Given the description of an element on the screen output the (x, y) to click on. 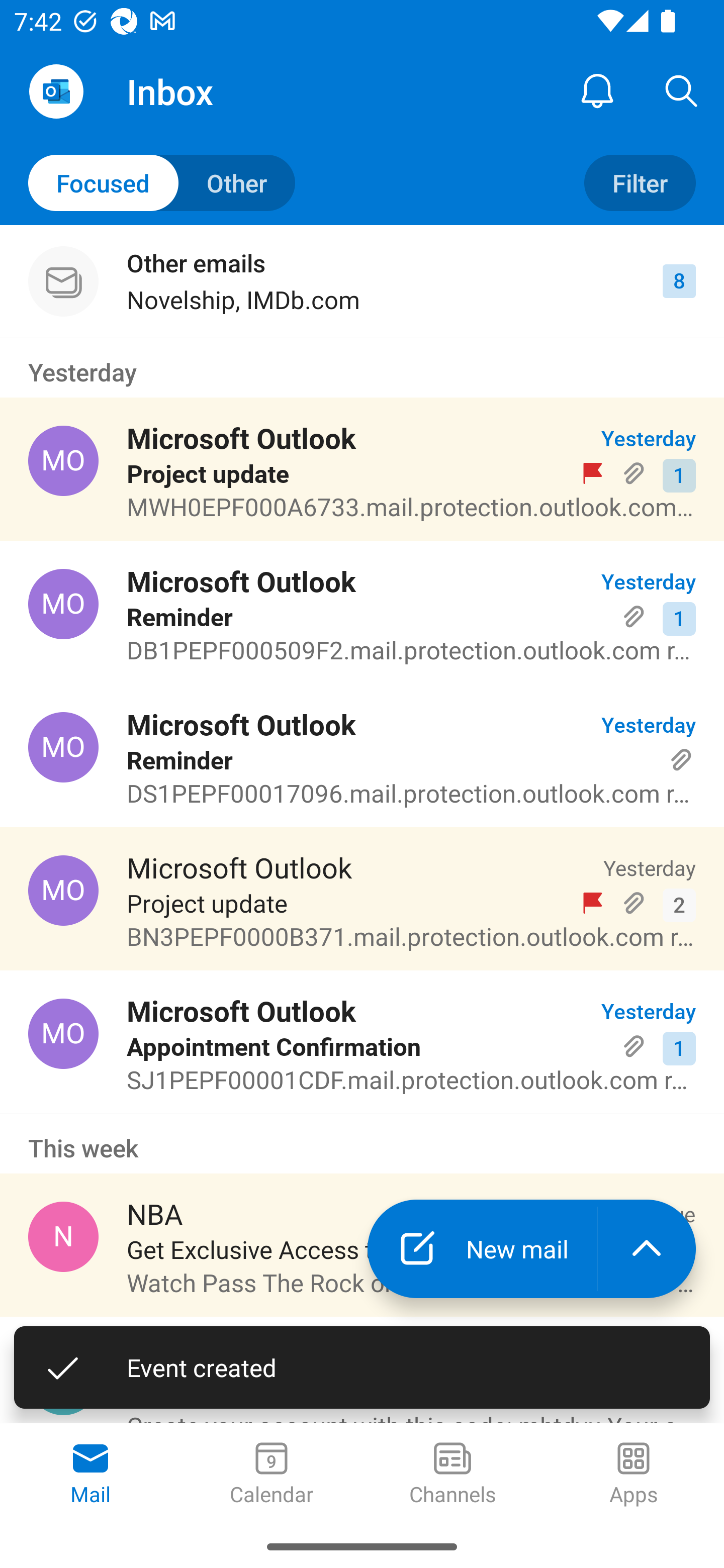
Notification Center (597, 90)
Search, ,  (681, 90)
Open Navigation Drawer (55, 91)
Toggle to other mails (161, 183)
Filter (639, 183)
Other emails Novelship, IMDb.com 8 (362, 281)
New mail (481, 1248)
launch the extended action menu (646, 1248)
NBA, NBA@email.nba.com (63, 1236)
TicketSwap, info@ticketswap.com (63, 1380)
Calendar (271, 1474)
Channels (452, 1474)
Apps (633, 1474)
